Given the description of an element on the screen output the (x, y) to click on. 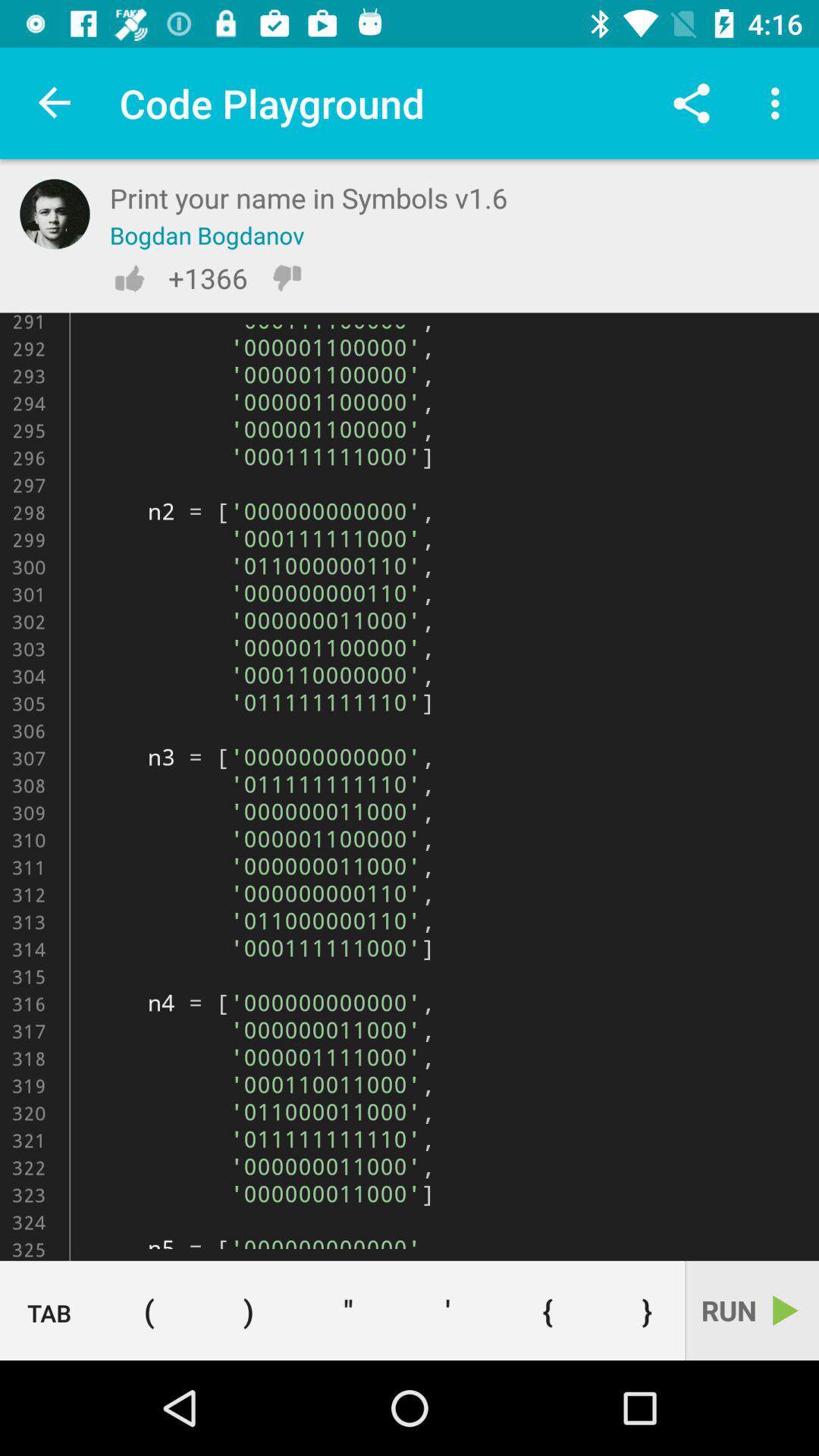
click on  icon (447, 1309)
click on right open bracket (248, 1309)
click on the dislike icon (286, 278)
click the share button on the web page (691, 103)
click on  which is next to tab at bottom of the page (149, 1309)
click on the  button which is at the bottom of the page (348, 1309)
